Given the description of an element on the screen output the (x, y) to click on. 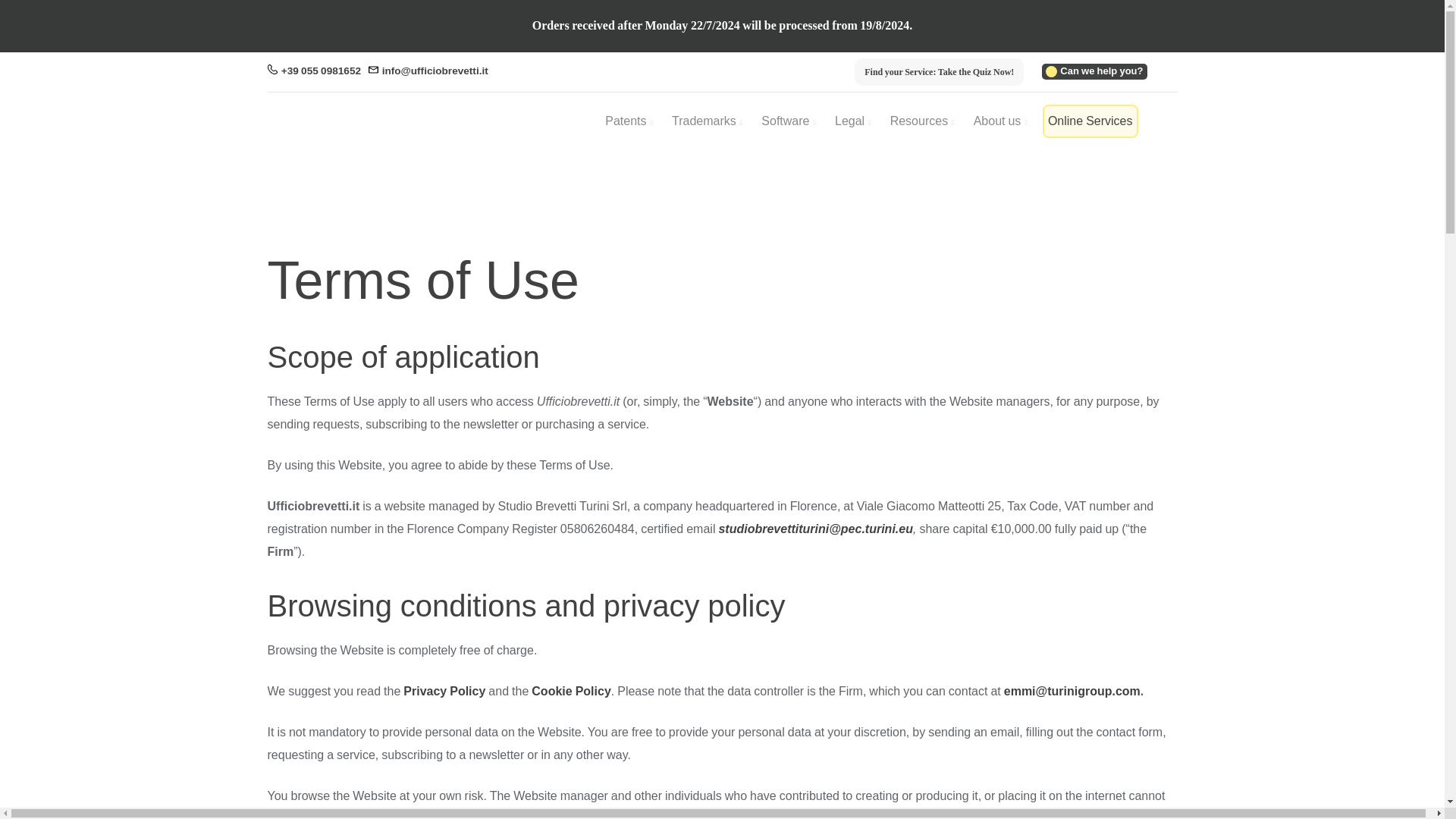
Can we help you? (1094, 70)
Trademarks (706, 121)
Software (788, 121)
Find your Service: Take the Quiz Now! (938, 71)
Patents (628, 121)
Ufficio Brevetti EN (319, 155)
